Given the description of an element on the screen output the (x, y) to click on. 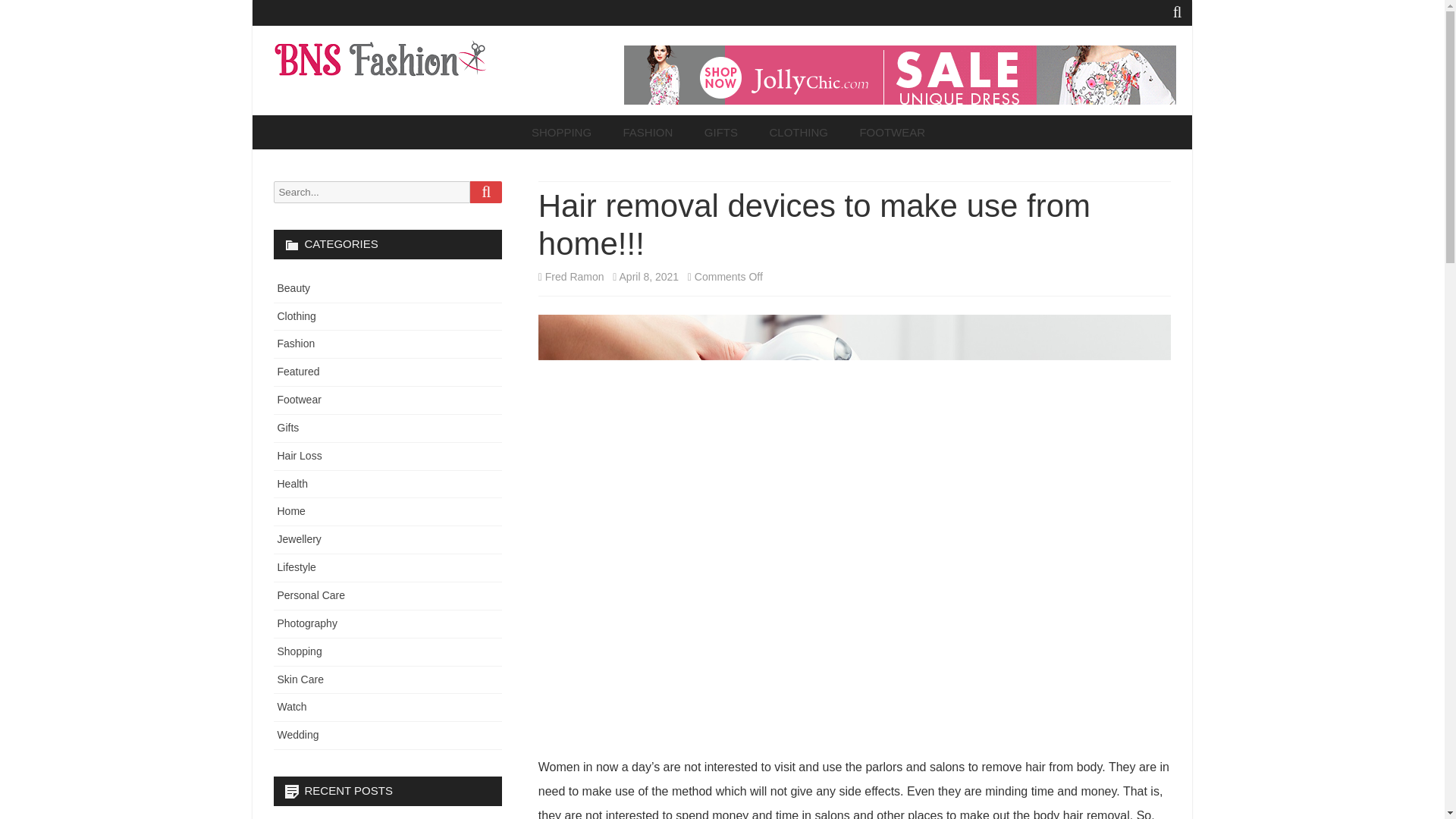
Skin Care (300, 679)
FASHION (647, 132)
Footwear (299, 399)
SHOPPING (561, 132)
Fred Ramon (574, 276)
Watch (292, 706)
Lifestyle (296, 567)
GIFTS (721, 132)
Gifts (288, 427)
Wedding (298, 734)
Fashion (296, 343)
Hair Loss (299, 455)
Search (486, 191)
